Given the description of an element on the screen output the (x, y) to click on. 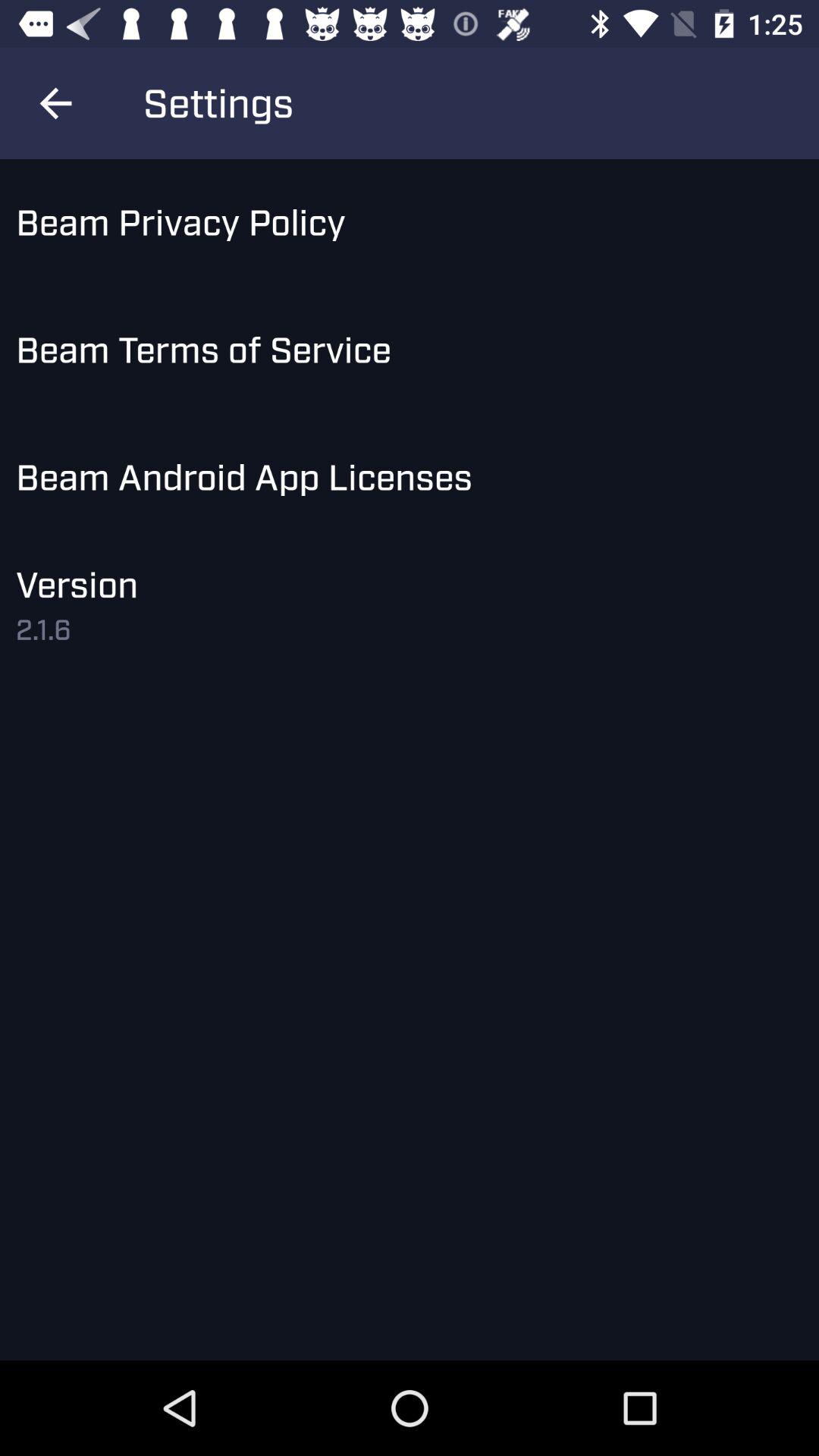
choose item next to the settings (55, 103)
